Given the description of an element on the screen output the (x, y) to click on. 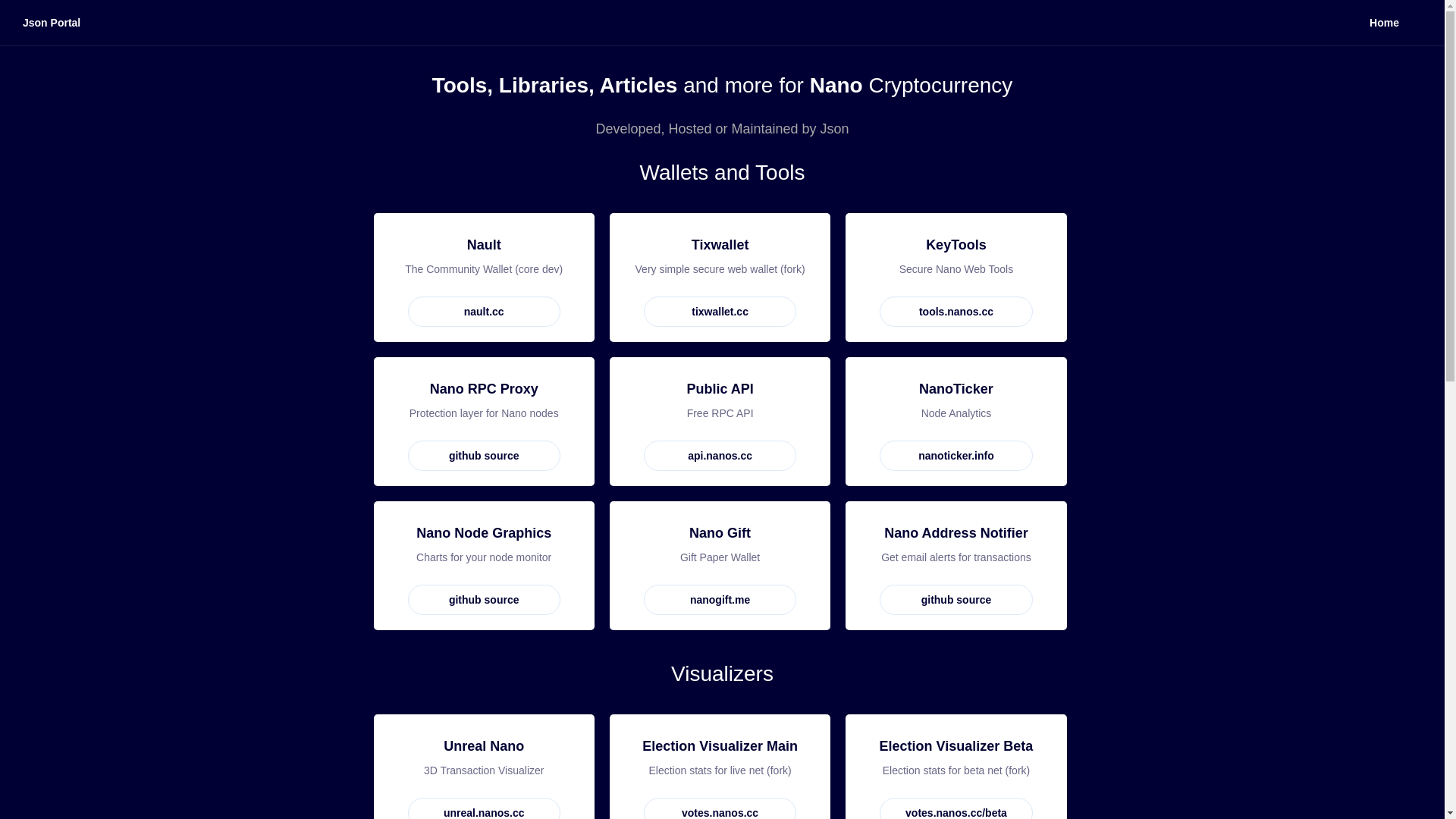
api.nanos.cc Element type: text (719, 455)
nault.cc Element type: text (483, 311)
tixwallet.cc Element type: text (719, 311)
github source Element type: text (955, 599)
nanoticker.info Element type: text (955, 455)
Home Element type: text (1383, 22)
nanogift.me Element type: text (719, 599)
Json Portal Element type: text (51, 22)
github source Element type: text (483, 455)
github source Element type: text (483, 599)
tools.nanos.cc Element type: text (955, 311)
